Given the description of an element on the screen output the (x, y) to click on. 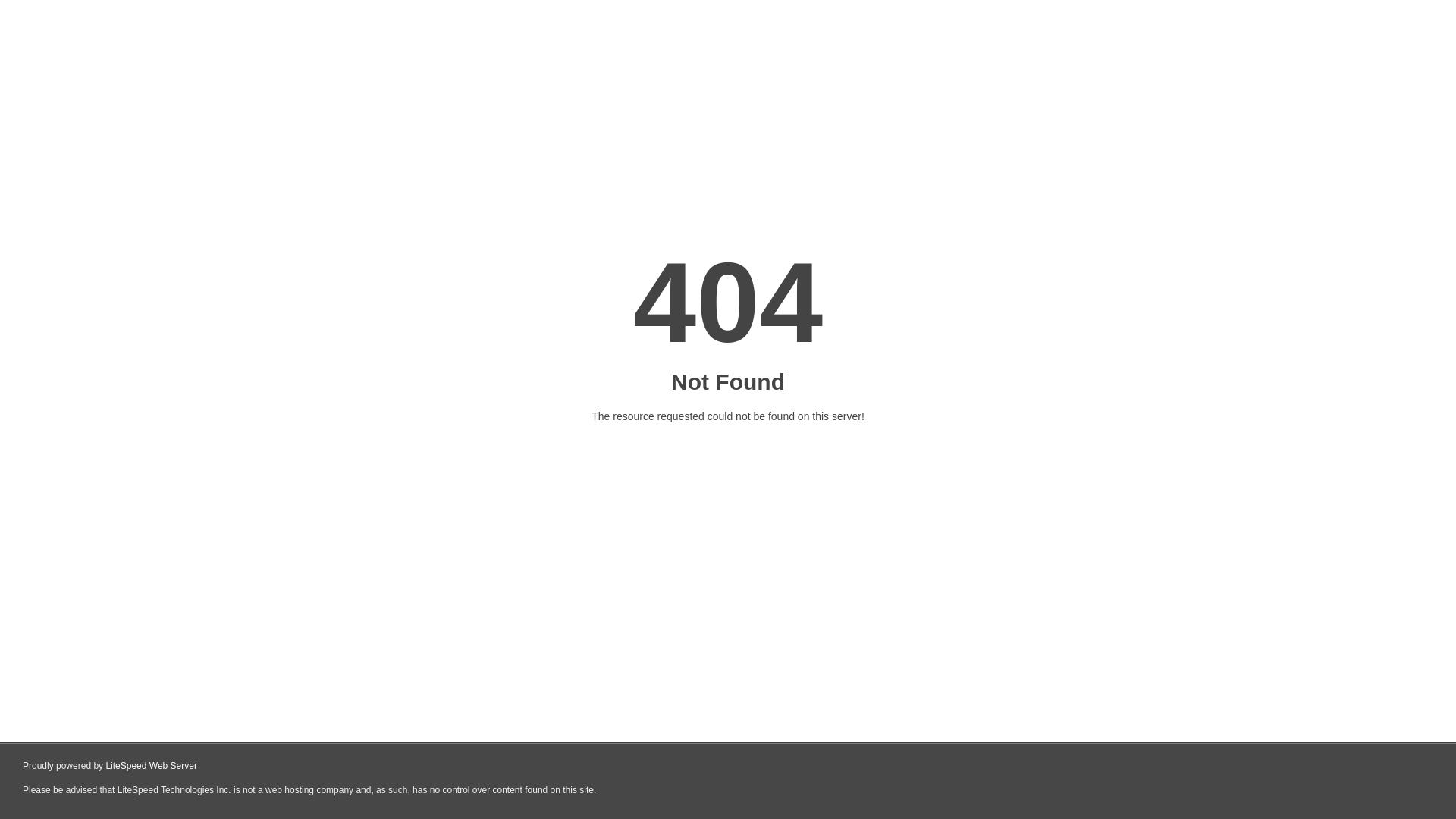
LiteSpeed Web Server Element type: text (151, 765)
